Given the description of an element on the screen output the (x, y) to click on. 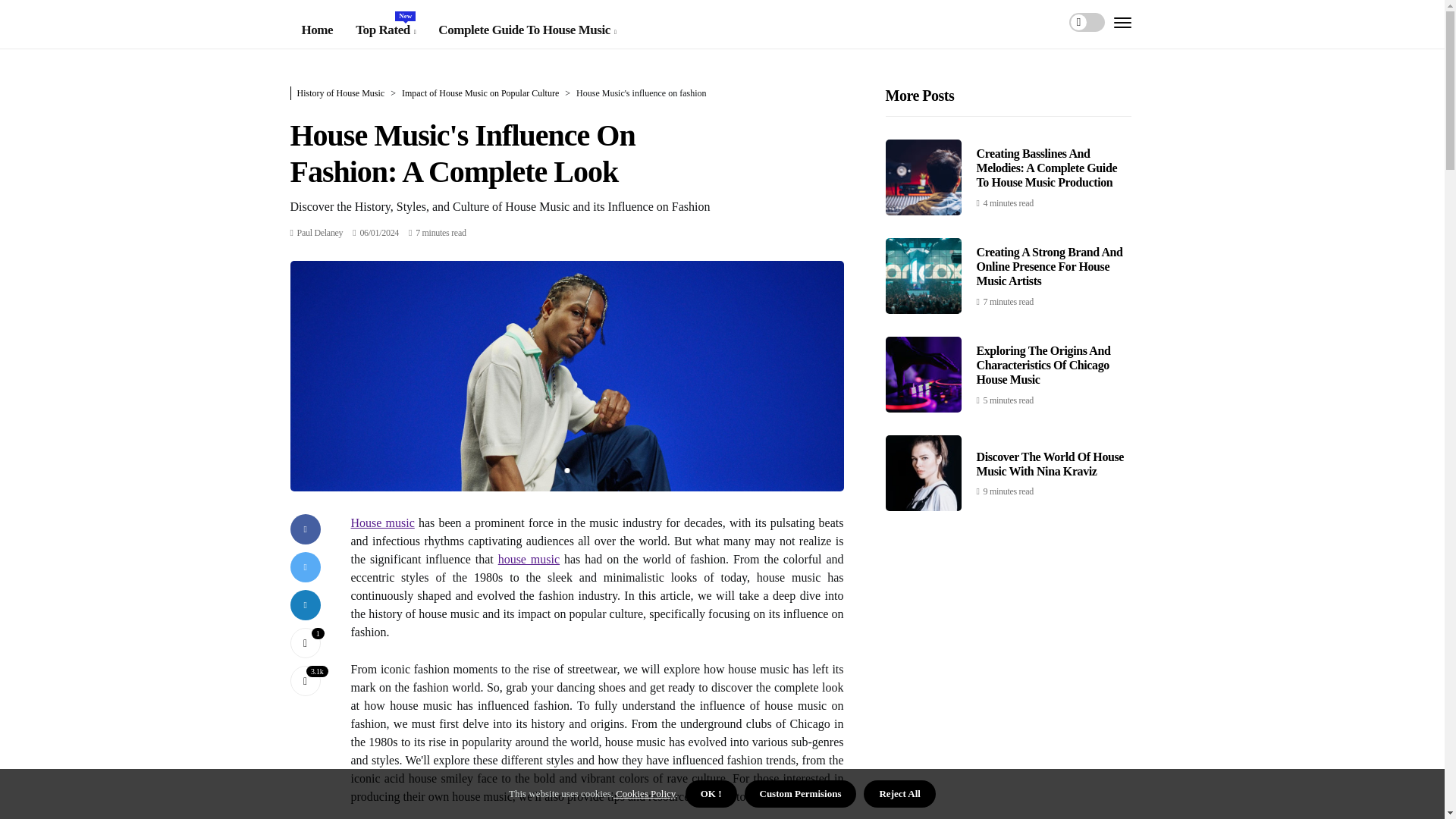
Posts by Paul Delaney (320, 232)
Complete Guide To House Music (526, 30)
Like (304, 643)
